Given the description of an element on the screen output the (x, y) to click on. 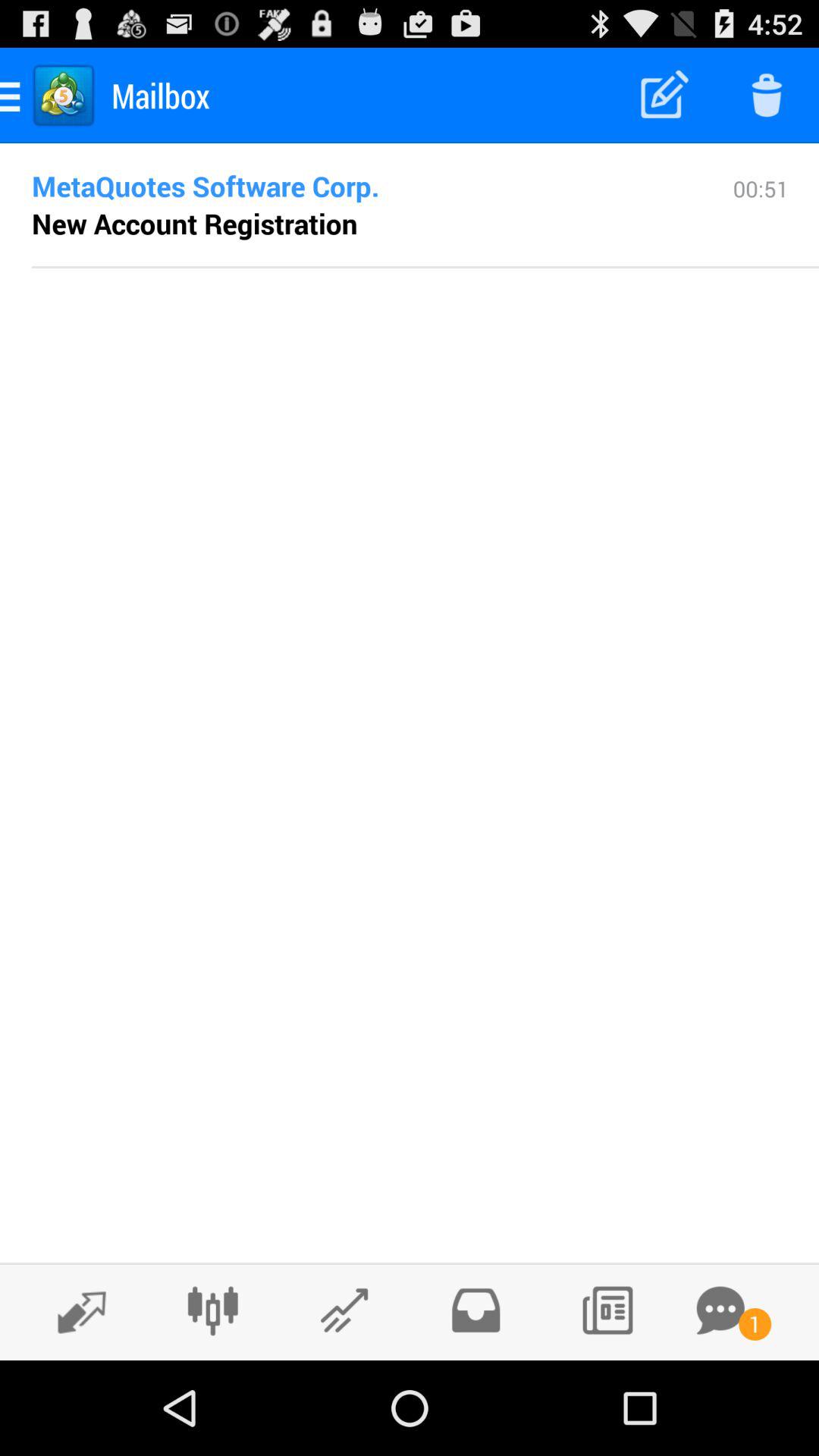
click the item above the new account registration (358, 185)
